Given the description of an element on the screen output the (x, y) to click on. 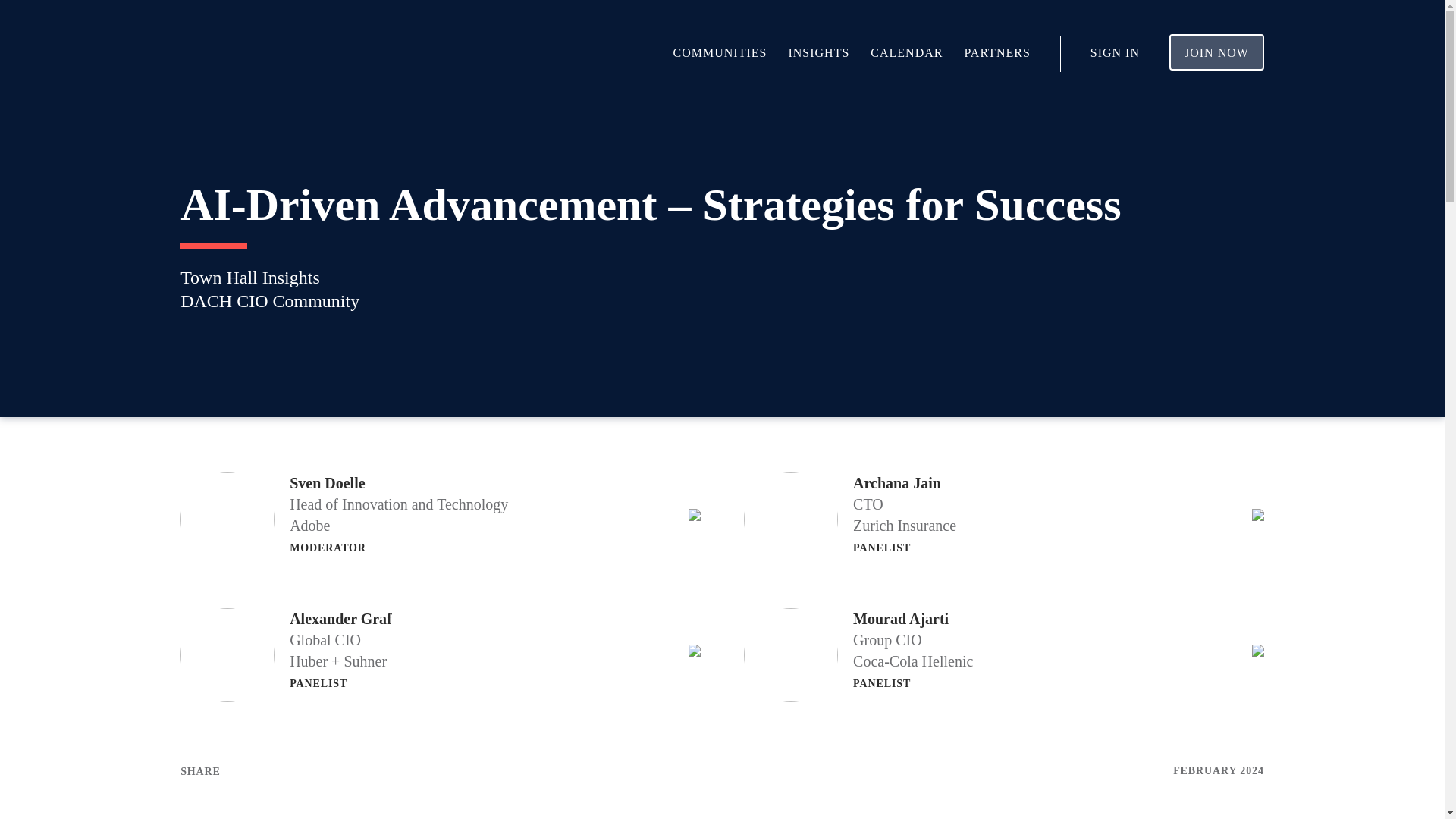
COMMUNITIES (719, 52)
CALENDAR (905, 52)
evanta (233, 53)
JOIN NOW (1216, 52)
PARTNERS (996, 52)
INSIGHTS (817, 52)
SIGN IN (1114, 52)
